Given the description of an element on the screen output the (x, y) to click on. 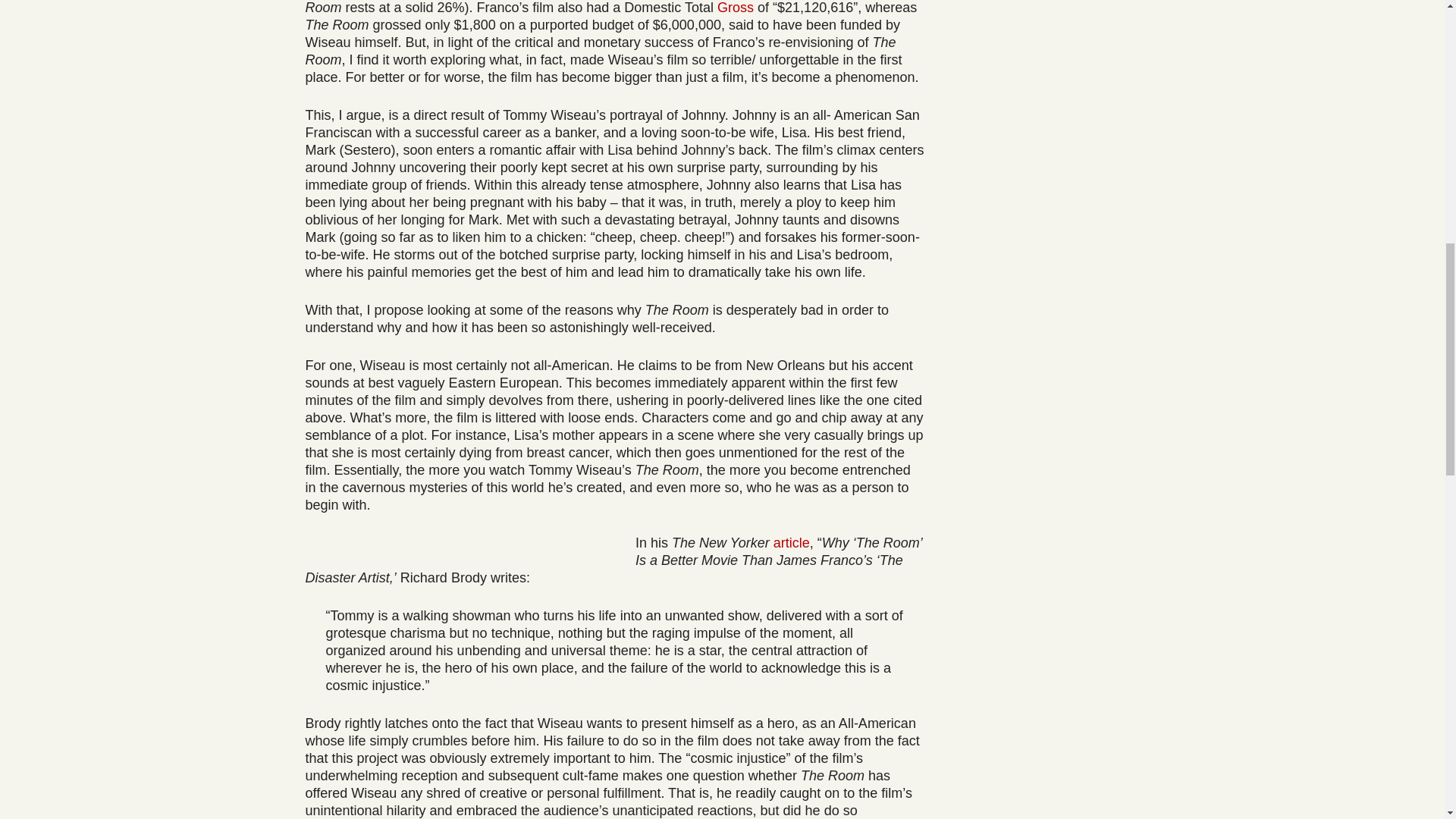
article (791, 542)
Gross (735, 7)
